Given the description of an element on the screen output the (x, y) to click on. 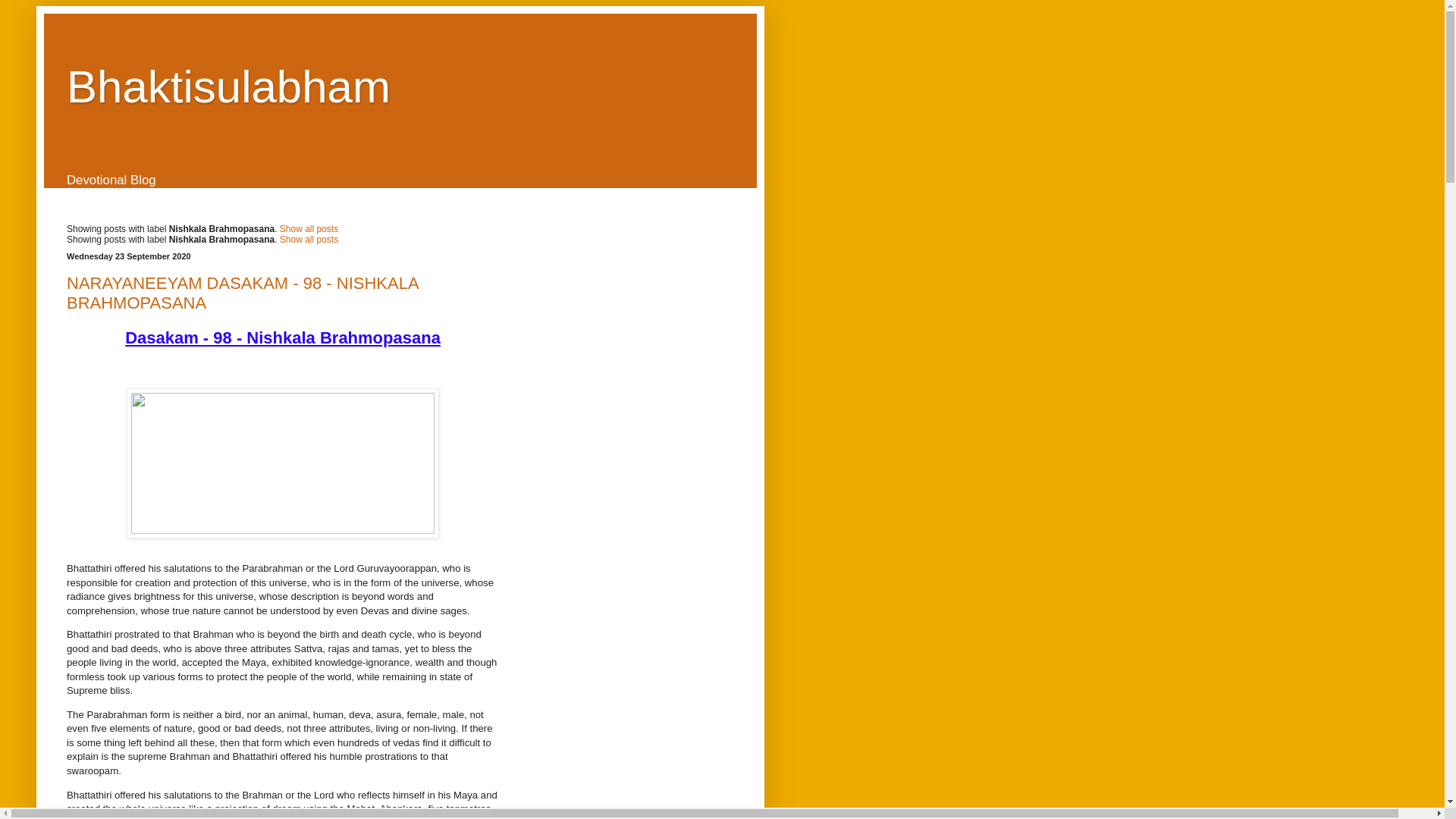
Show all posts (308, 239)
NARAYANEEYAM DASAKAM - 98 - NISHKALA BRAHMOPASANA (241, 292)
Bhaktisulabham (228, 86)
Show all posts (308, 228)
